Given the description of an element on the screen output the (x, y) to click on. 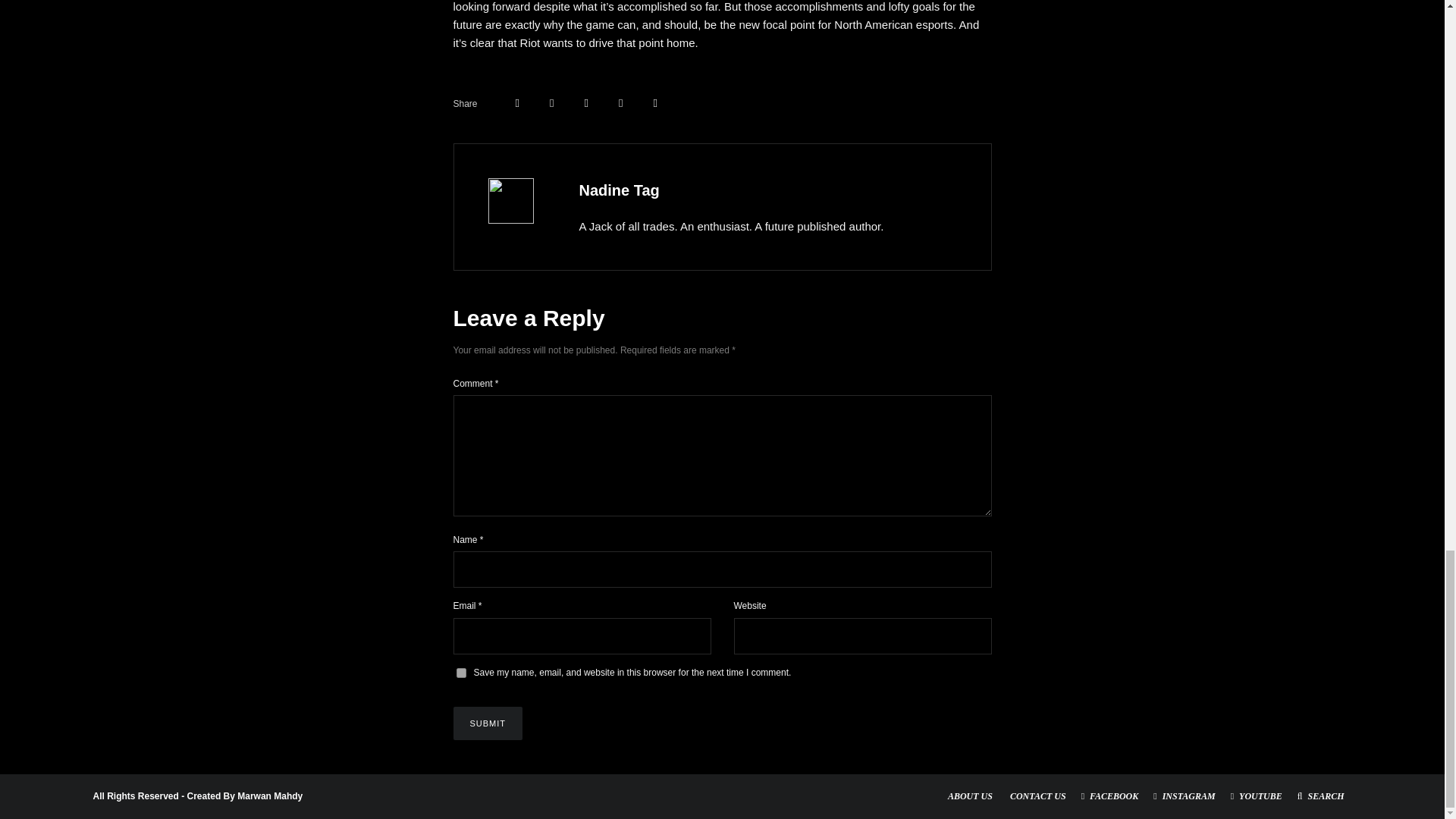
INSTAGRAM (1184, 795)
yes (461, 672)
ABOUT US (969, 796)
SEARCH (1321, 795)
YOUTUBE (1256, 795)
Submit (487, 723)
FACEBOOK (1110, 795)
Submit (487, 723)
CONTACT US (1037, 796)
Nadine Tag (619, 190)
